Given the description of an element on the screen output the (x, y) to click on. 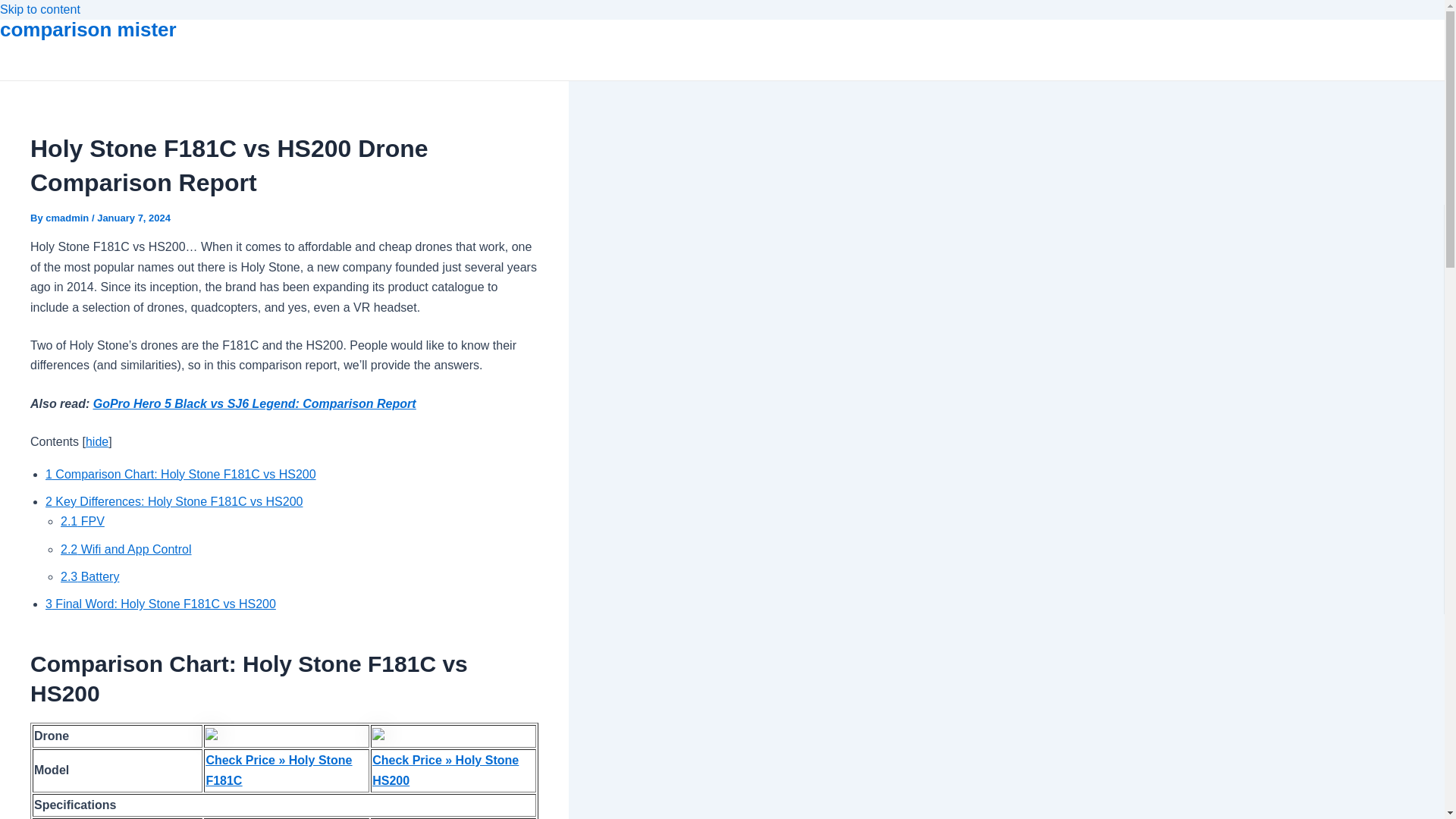
Skip to content (40, 9)
2.3 Battery (90, 576)
2 Key Differences: Holy Stone F181C vs HS200 (173, 501)
1 Comparison Chart: Holy Stone F181C vs HS200 (180, 472)
GoPro Hero 5 Black vs SJ6 Legend: Comparison Report (254, 403)
hide (96, 440)
Skip to content (40, 9)
View all posts by cmadmin (68, 217)
3 Final Word: Holy Stone F181C vs HS200 (160, 603)
2.1 FPV (82, 521)
2.2 Wifi and App Control (126, 549)
cmadmin (68, 217)
comparison mister (88, 29)
